Given the description of an element on the screen output the (x, y) to click on. 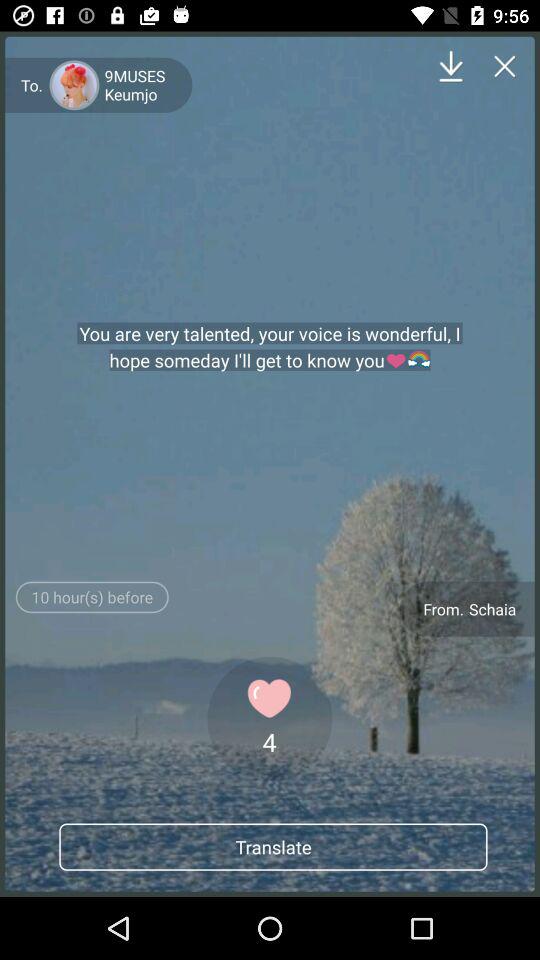
press you are very item (269, 347)
